Given the description of an element on the screen output the (x, y) to click on. 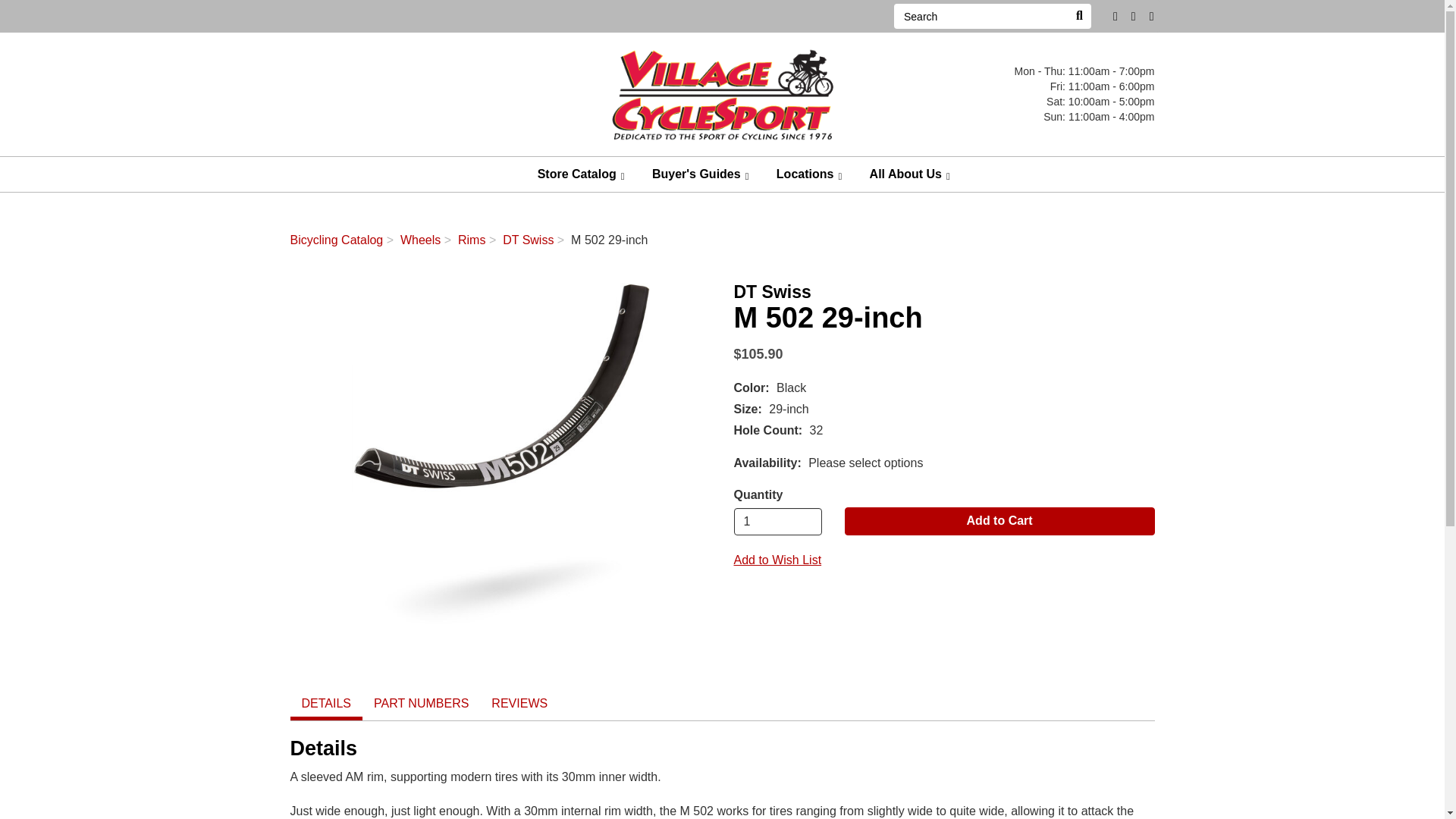
Store Catalog (580, 174)
1 (777, 521)
Search (980, 16)
Search (1078, 16)
Village CycleSport Home Page (721, 92)
